Given the description of an element on the screen output the (x, y) to click on. 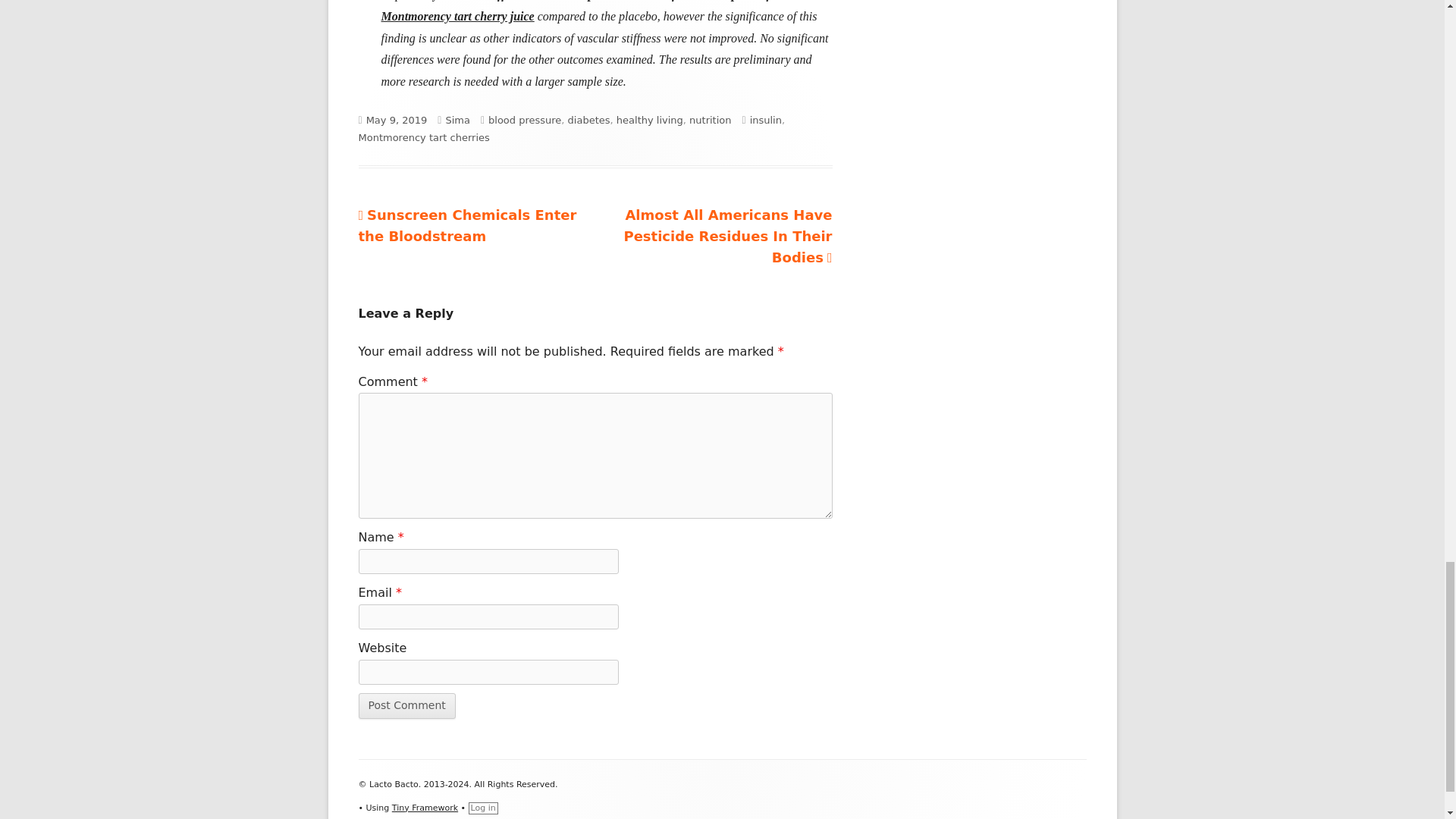
Post Comment (406, 705)
Montmorency tart cherries (423, 137)
Sima (457, 120)
May 9, 2019 (467, 225)
blood pressure (397, 120)
insulin (523, 120)
Post Comment (765, 120)
healthy living (406, 705)
